Given the description of an element on the screen output the (x, y) to click on. 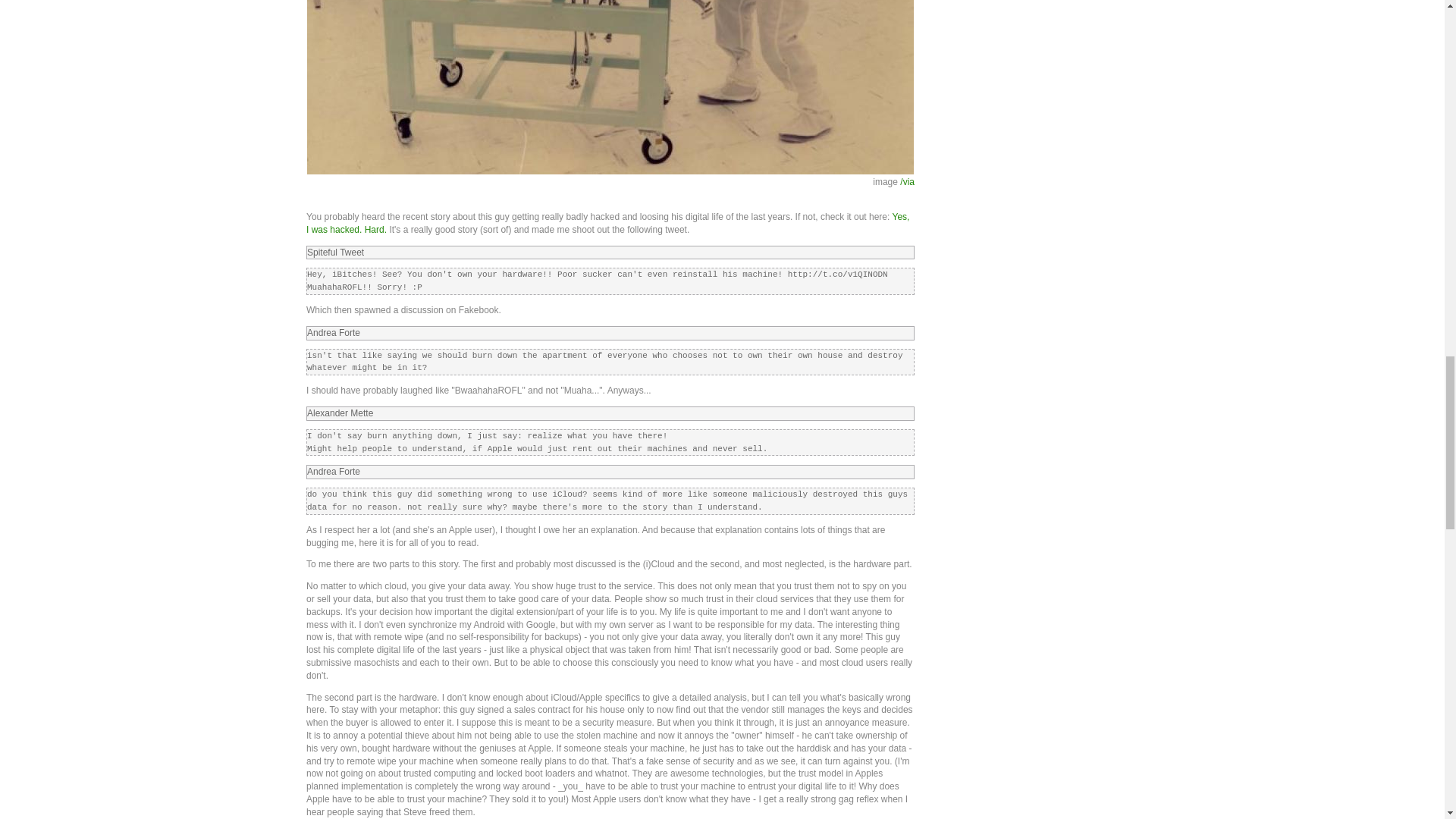
Yes, I was hacked. Hard. (606, 223)
